Given the description of an element on the screen output the (x, y) to click on. 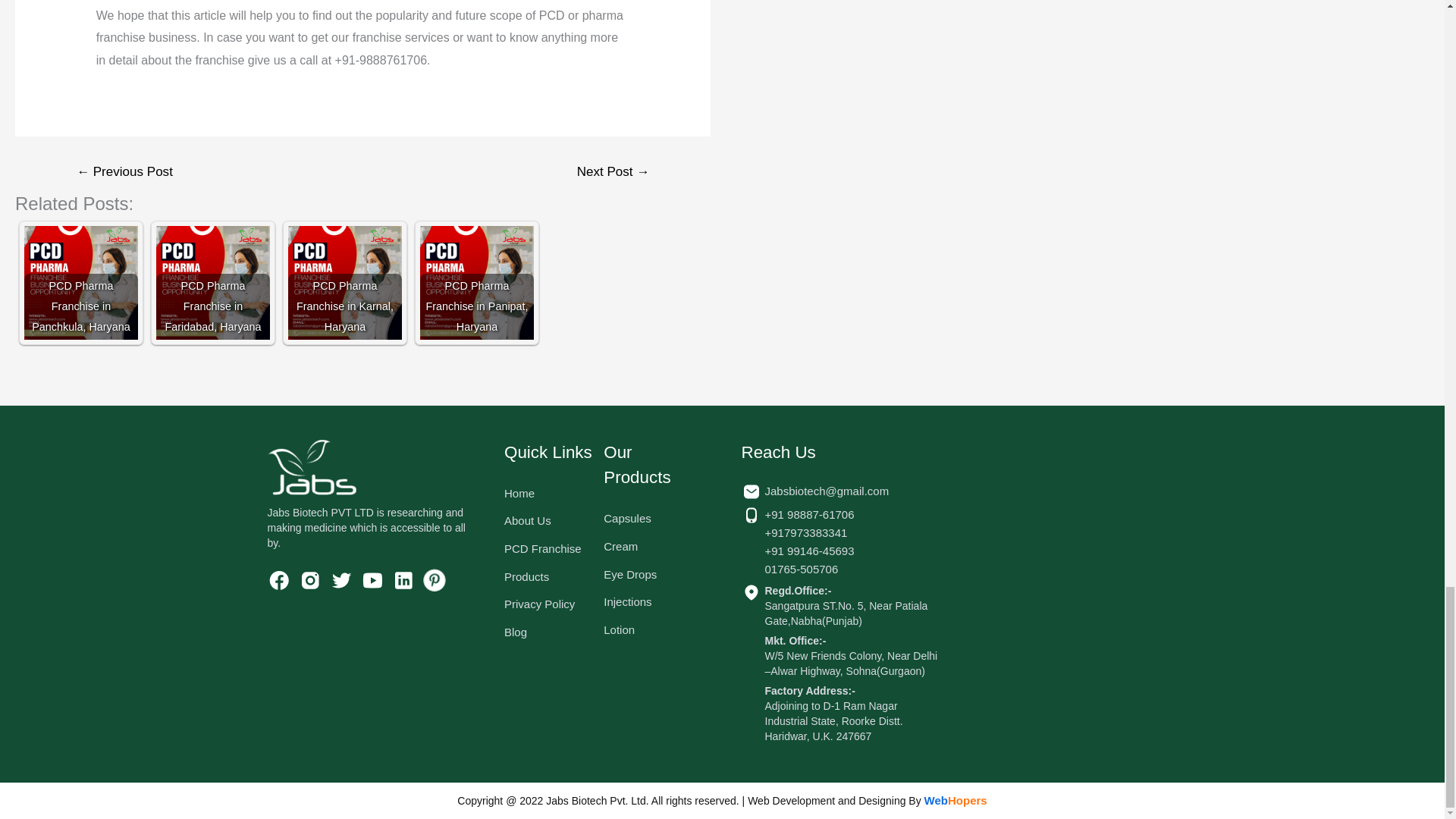
PCD Pharma Franchise in Panipat, Haryana (477, 214)
PCD Pharma Franchise in Panchkula, Haryana (81, 214)
PCD Pharma Franchise in Karnal, Haryana (344, 214)
PCD Pharma Franchise in Faridabad, Haryana (212, 214)
